Given the description of an element on the screen output the (x, y) to click on. 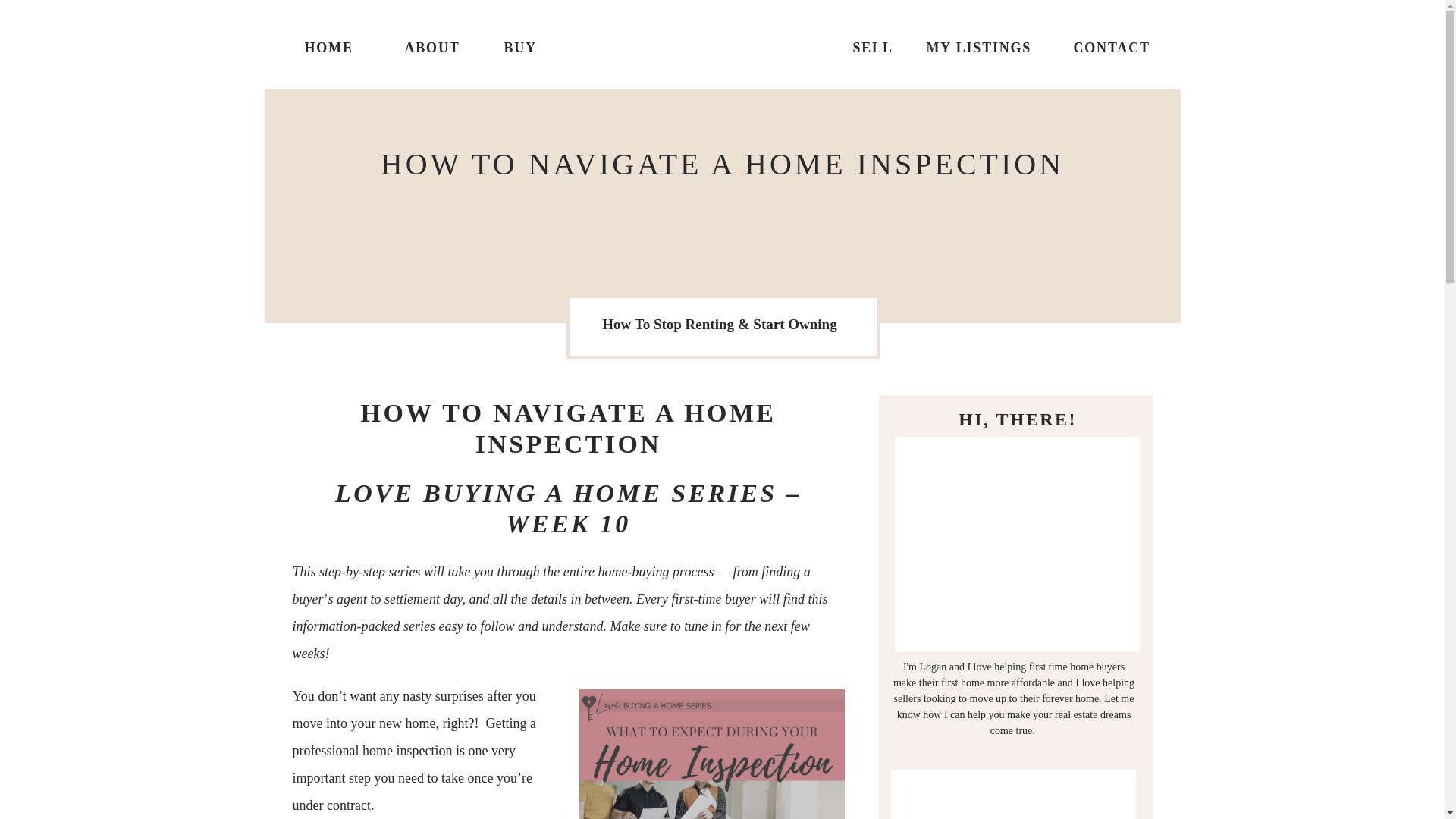
MY LISTINGS (979, 45)
CONTACT (1108, 45)
ABOUT (438, 45)
BUY (528, 45)
HOME (329, 45)
SELL (877, 47)
